Given the description of an element on the screen output the (x, y) to click on. 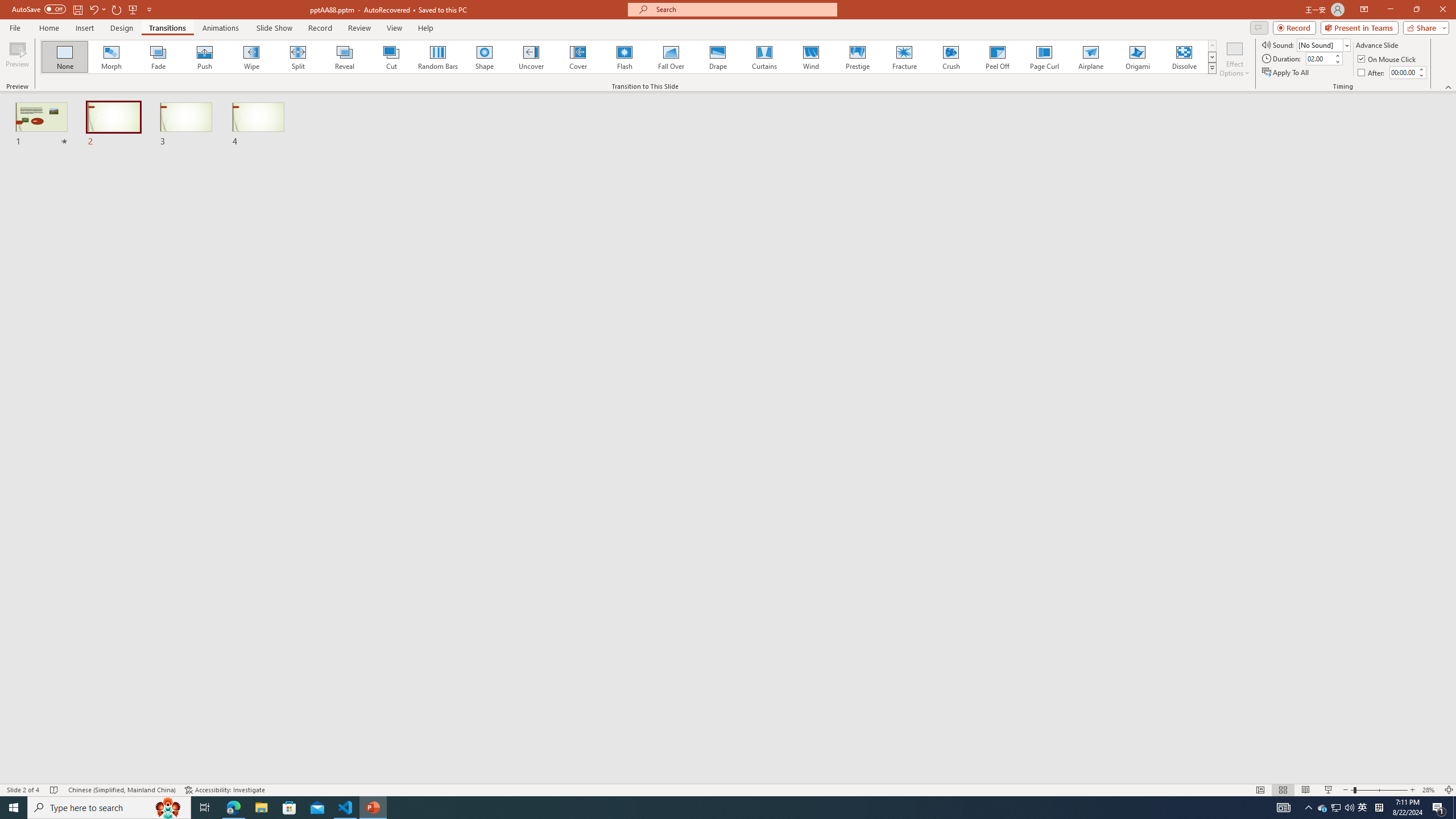
Push (205, 56)
Dissolve (1183, 56)
Prestige (857, 56)
Sound (1324, 44)
Duration (1319, 58)
Cover (577, 56)
Fracture (903, 56)
